Given the description of an element on the screen output the (x, y) to click on. 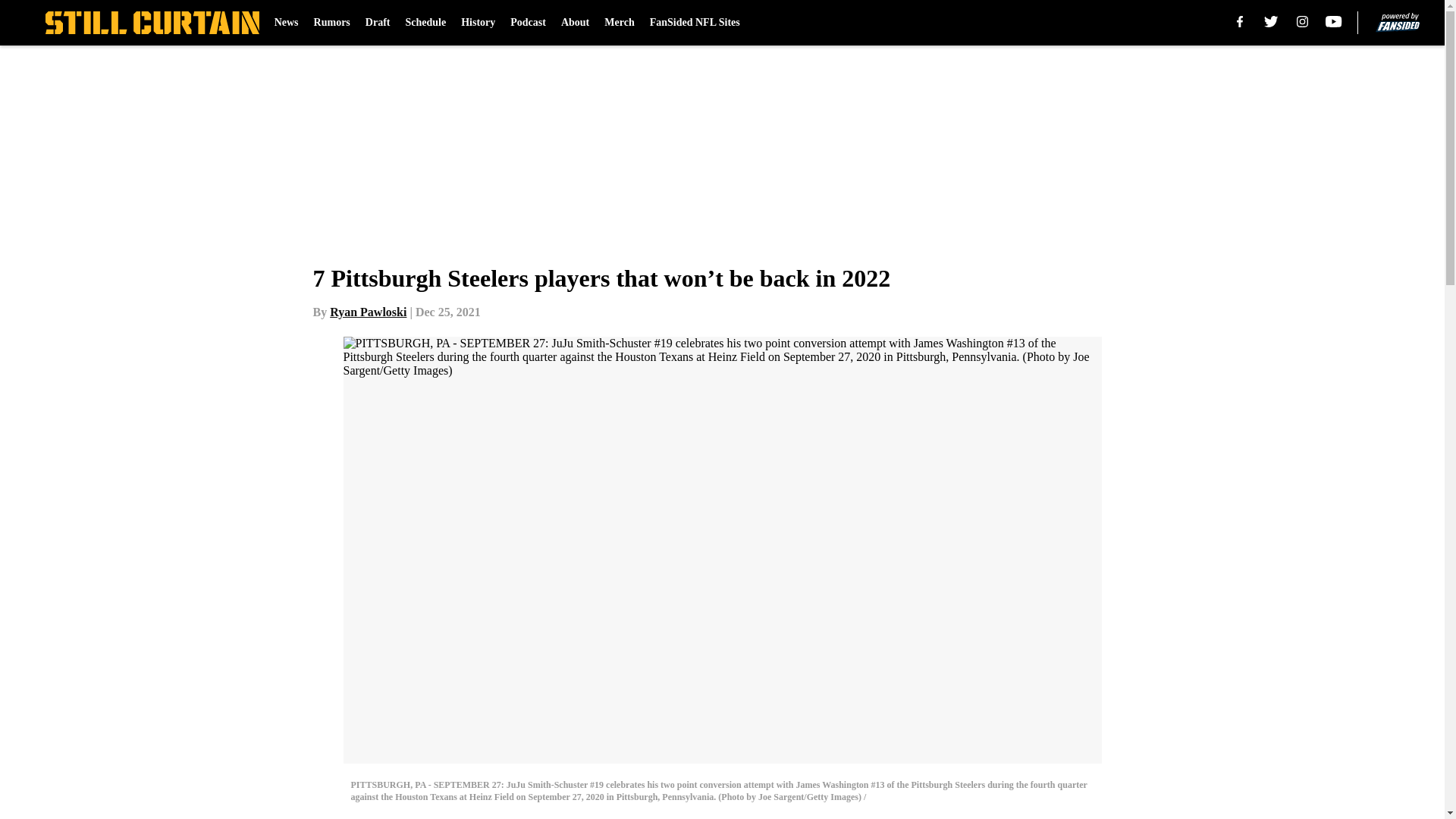
Merch (618, 22)
News (286, 22)
About (574, 22)
Ryan Pawloski (368, 311)
Draft (377, 22)
Schedule (424, 22)
History (478, 22)
Rumors (332, 22)
Podcast (528, 22)
FanSided NFL Sites (694, 22)
